Given the description of an element on the screen output the (x, y) to click on. 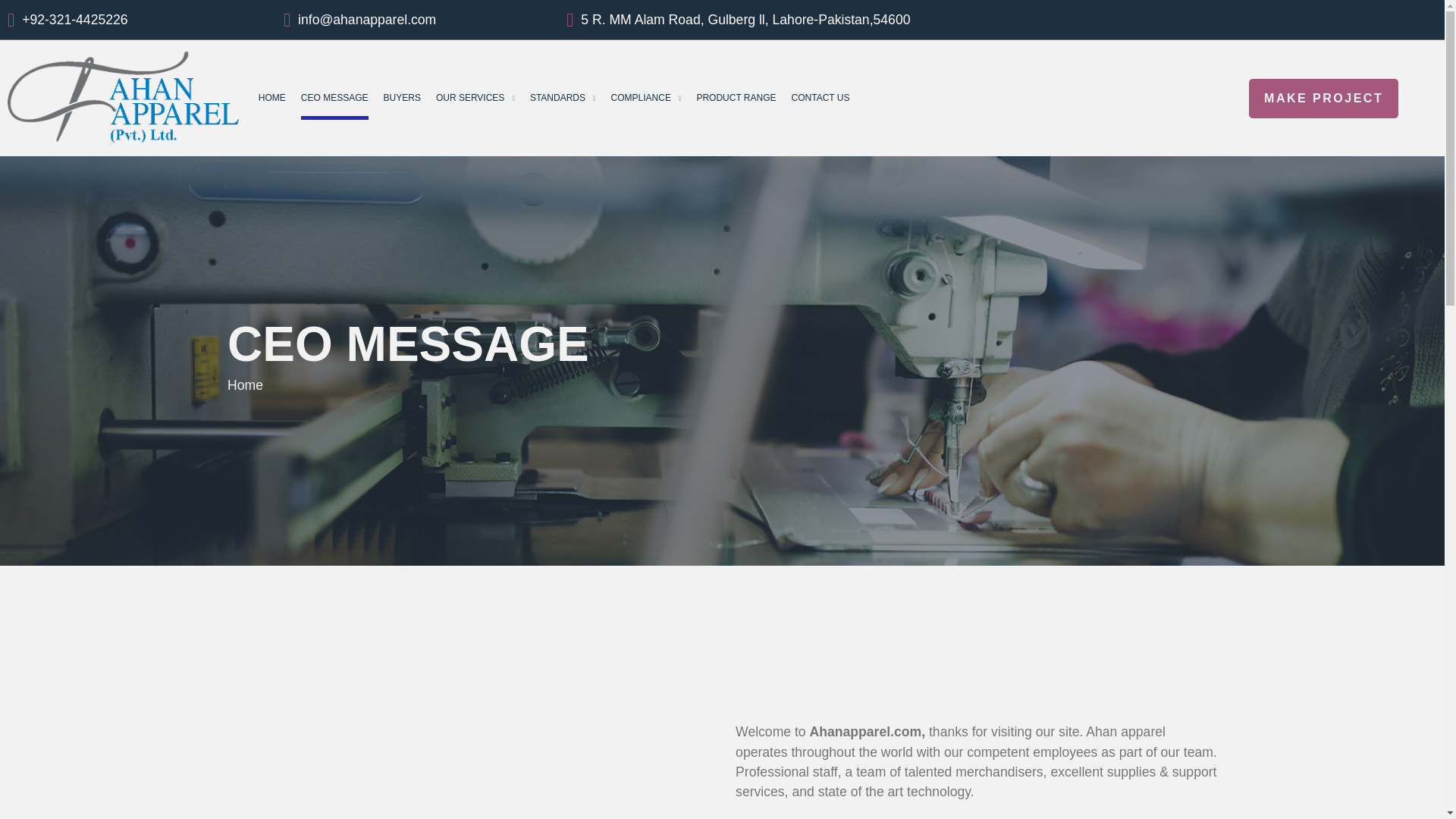
OUR SERVICES (469, 97)
BUYERS (402, 97)
5 R. MM Alam Road, Gulberg ll, Lahore-Pakistan,54600 (745, 19)
HOME (272, 97)
CEO MESSAGE (334, 97)
